Given the description of an element on the screen output the (x, y) to click on. 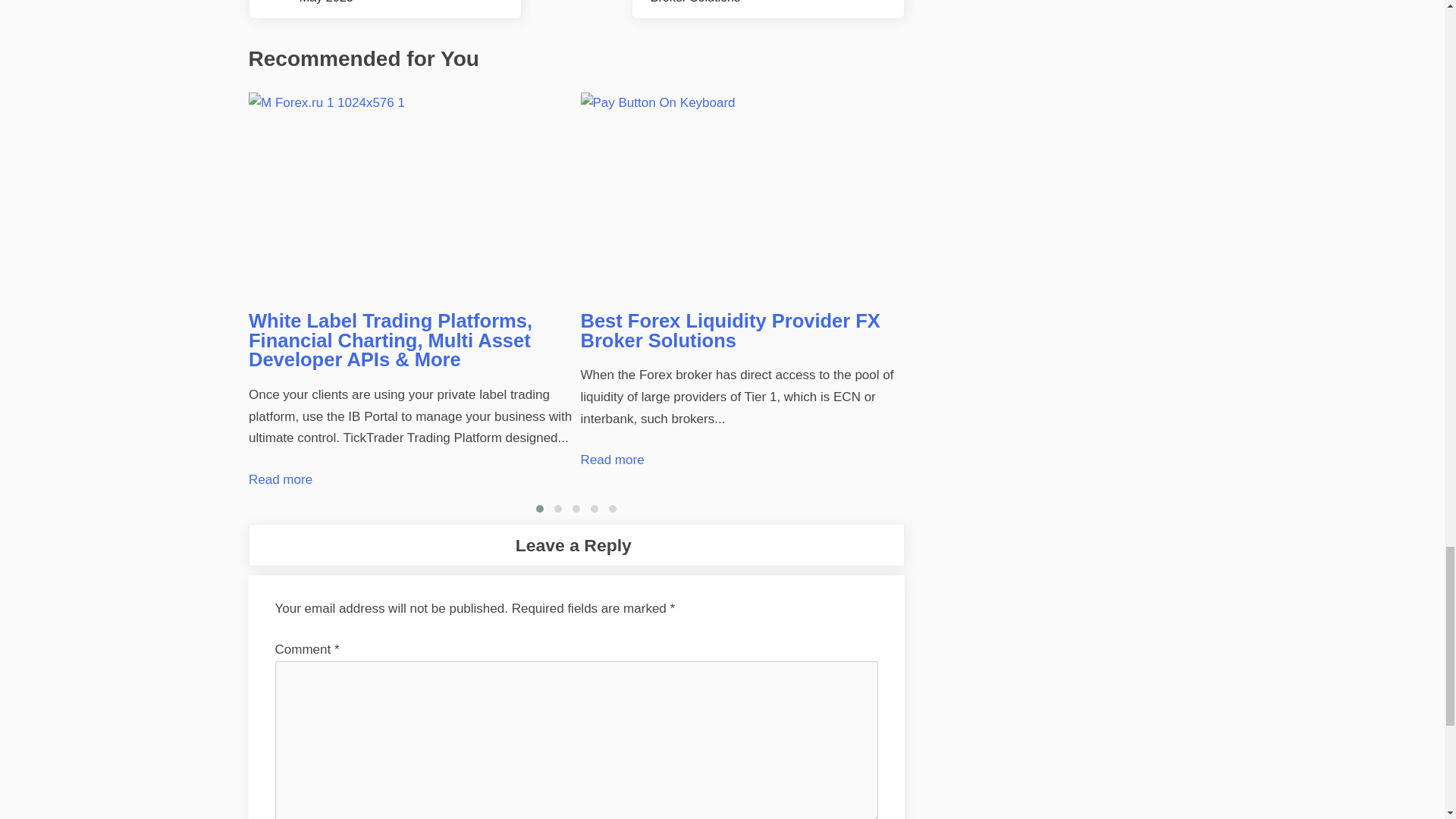
Read more (612, 459)
Best Forex Liquidity Provider FX Broker Solutions (742, 194)
Read more (280, 479)
Best Forex Liquidity Provider FX Broker Solutions (730, 330)
